Given the description of an element on the screen output the (x, y) to click on. 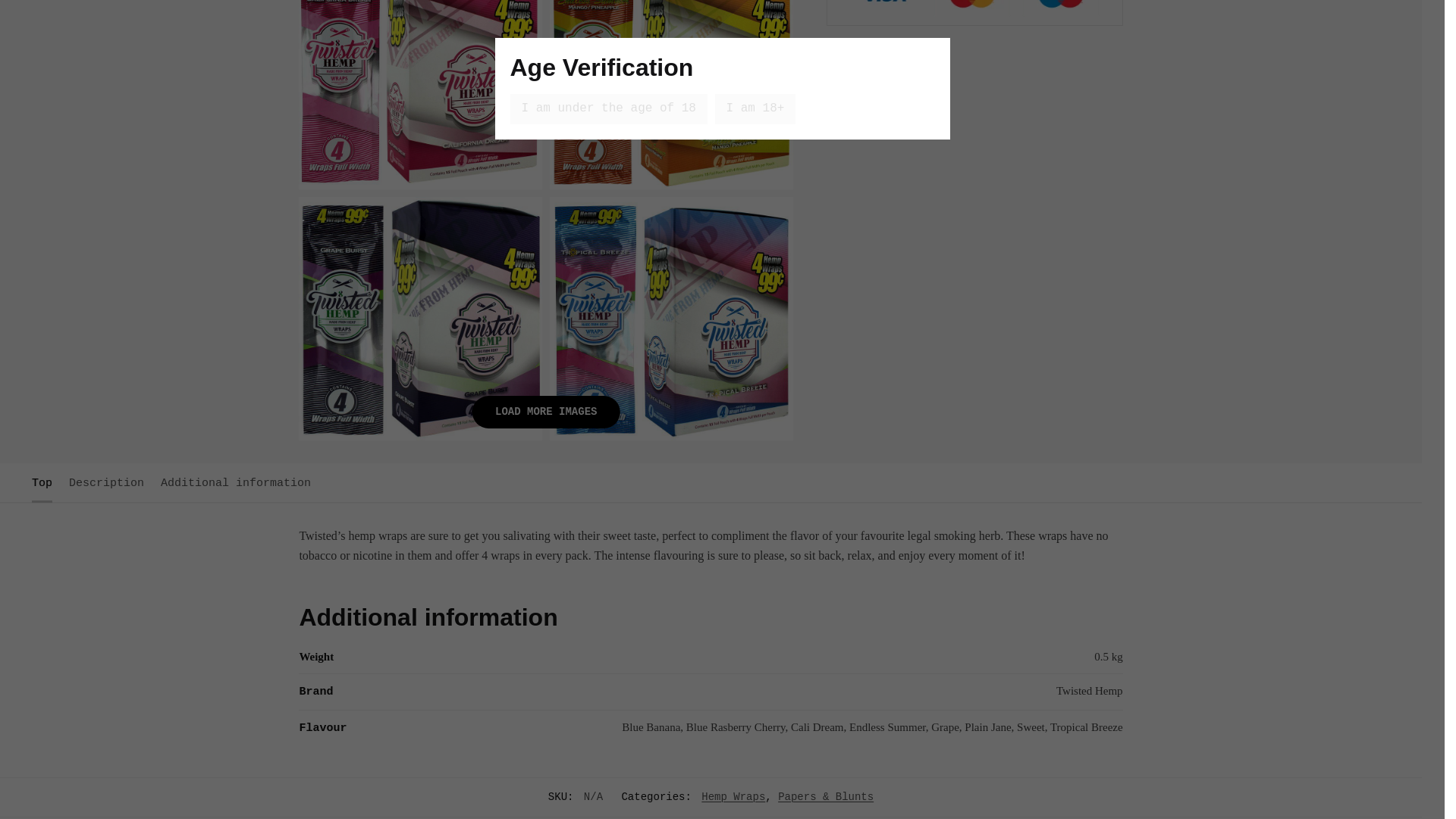
click to zoom-in (419, 94)
click to zoom-in (671, 94)
